Given the description of an element on the screen output the (x, y) to click on. 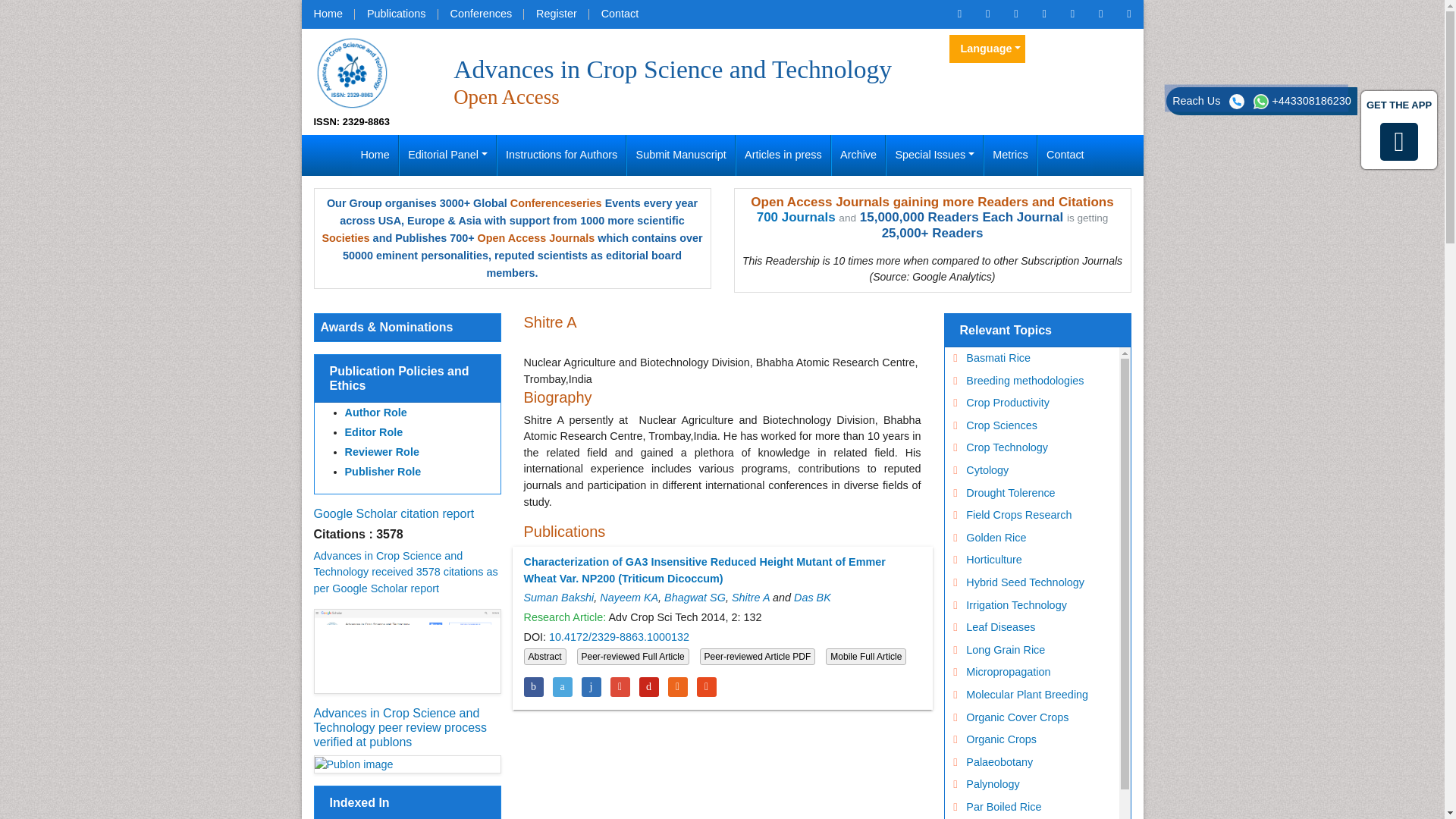
Omics Slideshare (1100, 14)
Instructions for Authors (561, 155)
Contact (619, 14)
Editorial Panel (447, 155)
Omics Facebook (987, 14)
Submit Manuscript (681, 155)
Contact (619, 14)
Omics LinkedIn (1043, 14)
OMICS International Journals (396, 14)
Articles in press (782, 155)
Home (328, 14)
Home (374, 155)
Publications (396, 14)
Omics Youtube (1128, 14)
Language (987, 49)
